Given the description of an element on the screen output the (x, y) to click on. 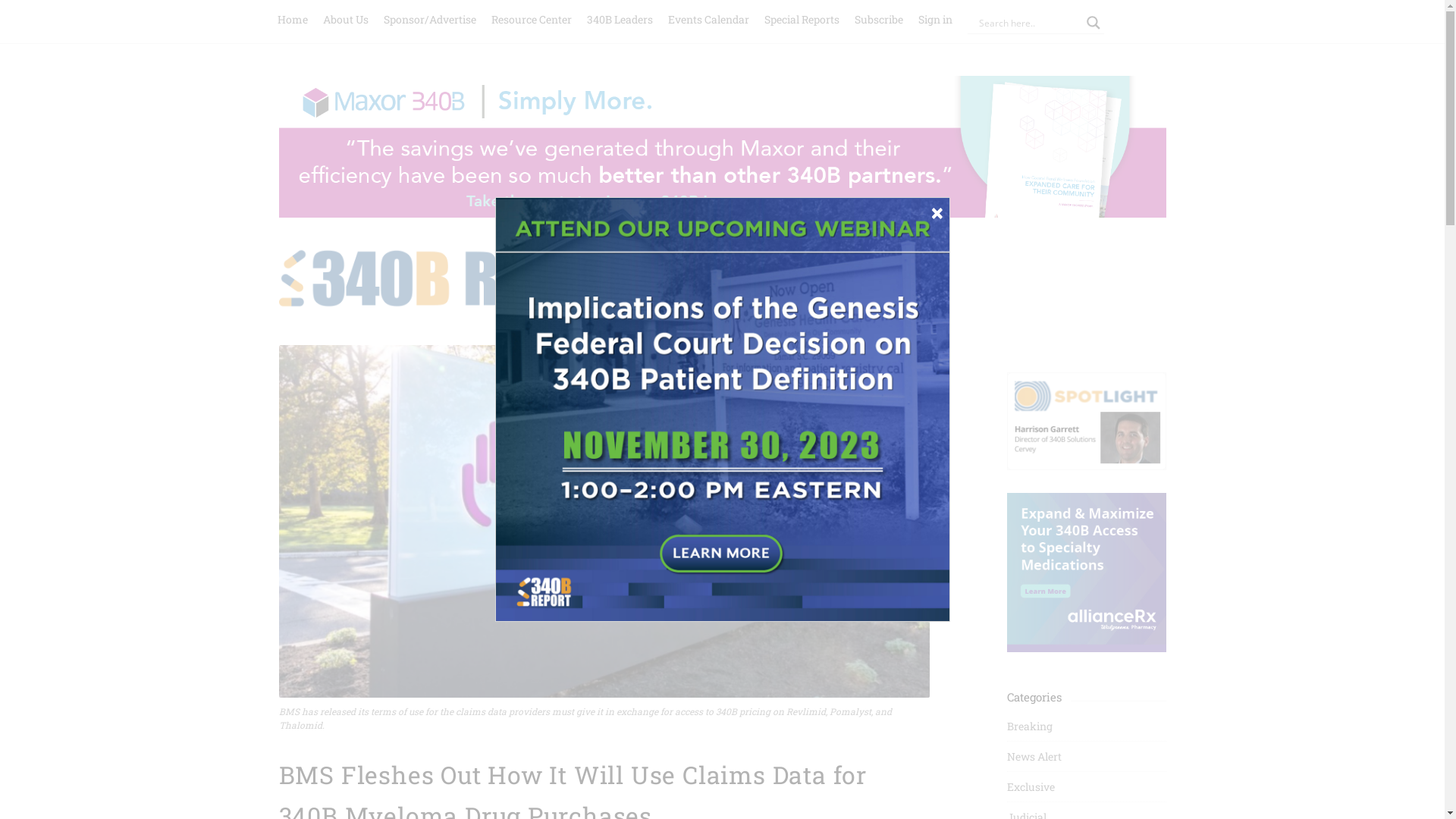
Subscribe Element type: text (878, 18)
340B Leaders Element type: text (619, 18)
Sign in Element type: text (934, 18)
About Us Element type: text (345, 18)
Special Reports Element type: text (801, 18)
News Alert Element type: text (1034, 756)
Breaking Element type: text (1029, 725)
Events Calendar Element type: text (707, 18)
Home Element type: text (292, 18)
Sponsor/Advertise Element type: text (429, 18)
Exclusive Element type: text (1030, 786)
Resource Center Element type: text (531, 18)
